Given the description of an element on the screen output the (x, y) to click on. 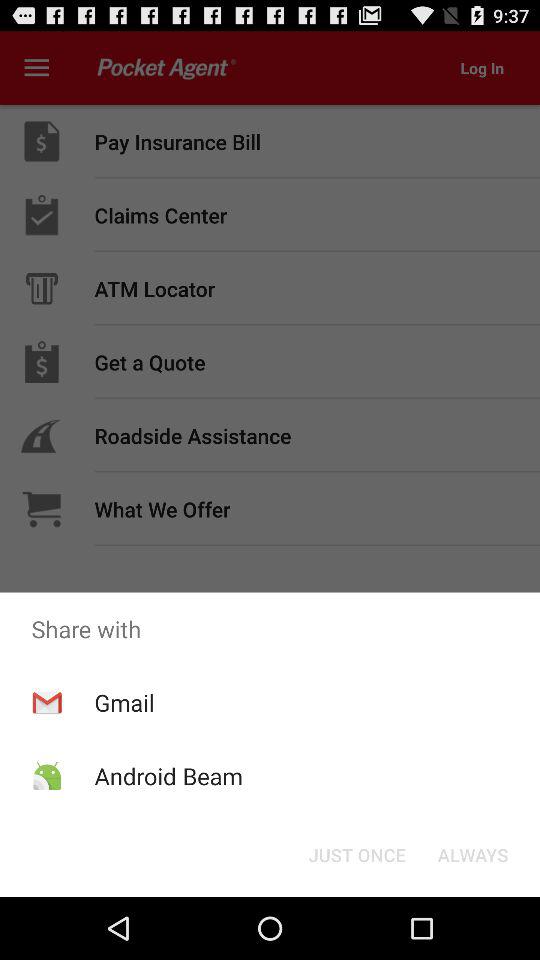
turn on the gmail item (124, 702)
